Given the description of an element on the screen output the (x, y) to click on. 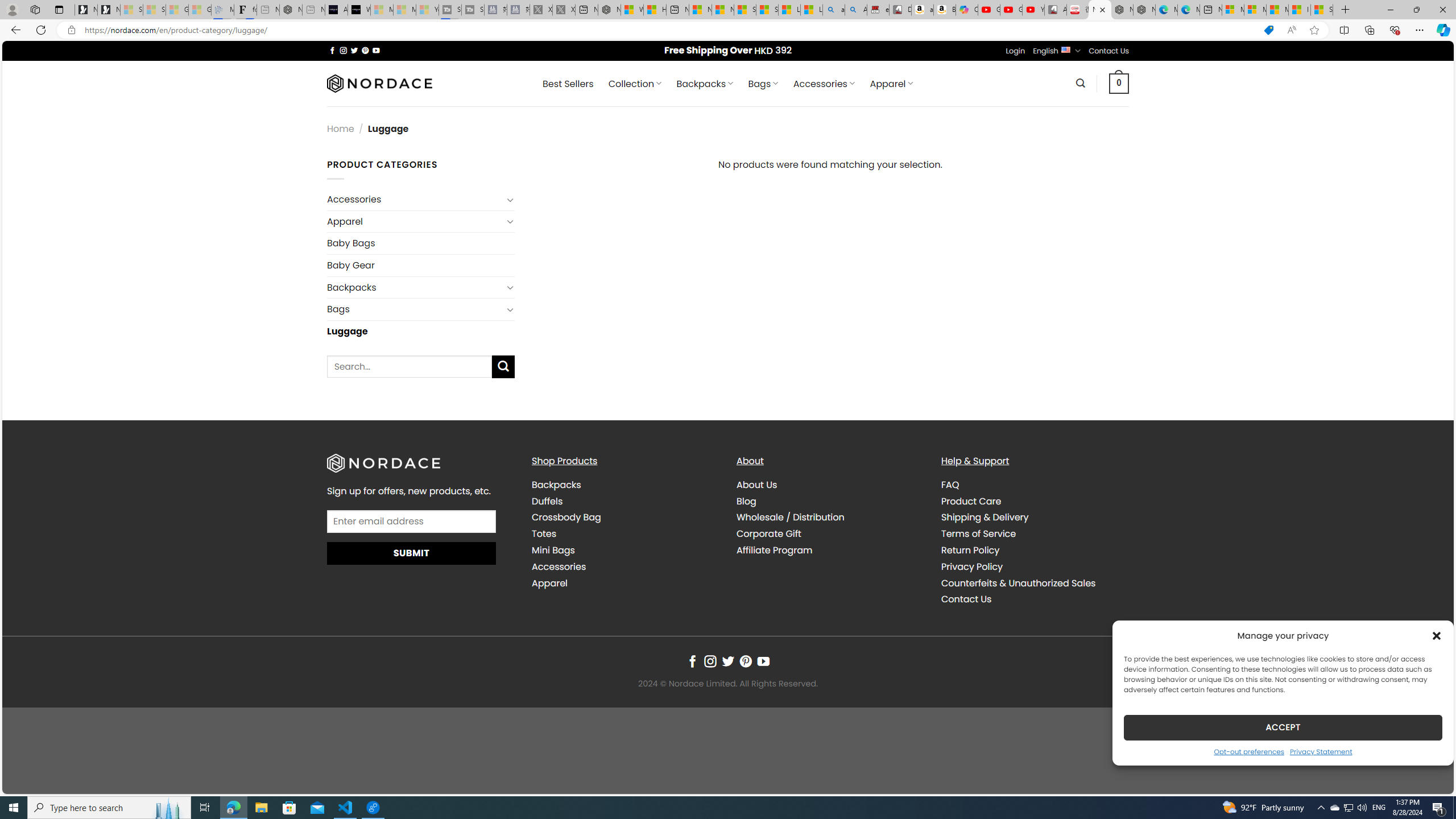
Crossbody Bag (625, 517)
 0  (1118, 83)
Follow on Instagram (710, 661)
About Us (756, 484)
Return Policy (970, 550)
This site has coupons! Shopping in Microsoft Edge (1268, 29)
Counterfeits & Unauthorized Sales (1018, 582)
Amazon Echo Dot PNG - Search Images (856, 9)
